Given the description of an element on the screen output the (x, y) to click on. 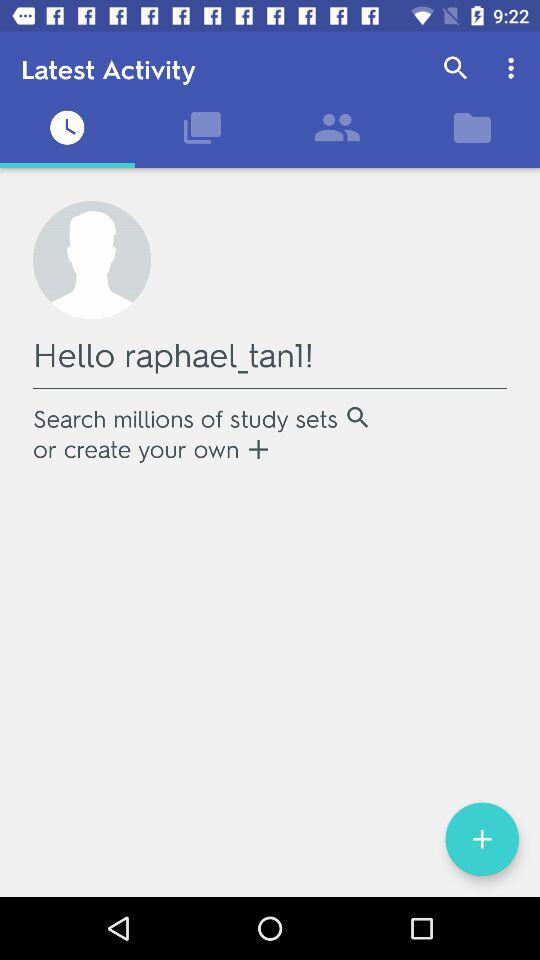
click the icon at the bottom right corner (482, 839)
